Given the description of an element on the screen output the (x, y) to click on. 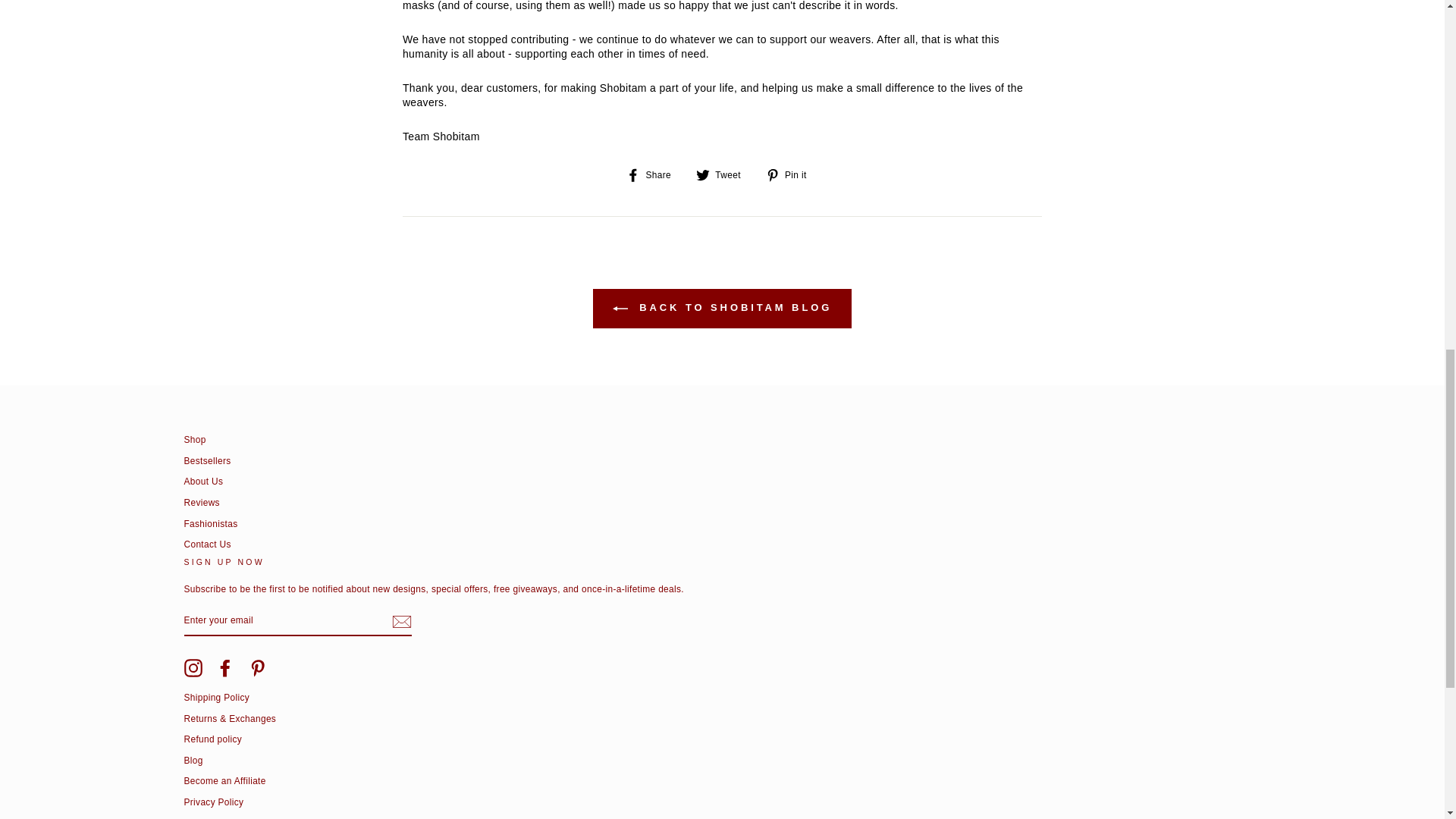
Shobitam on Facebook (224, 668)
Shobitam on Instagram (192, 668)
Shobitam on Pinterest (257, 668)
Share on Facebook (654, 174)
Tweet on Twitter (723, 174)
Pin on Pinterest (791, 174)
